Given the description of an element on the screen output the (x, y) to click on. 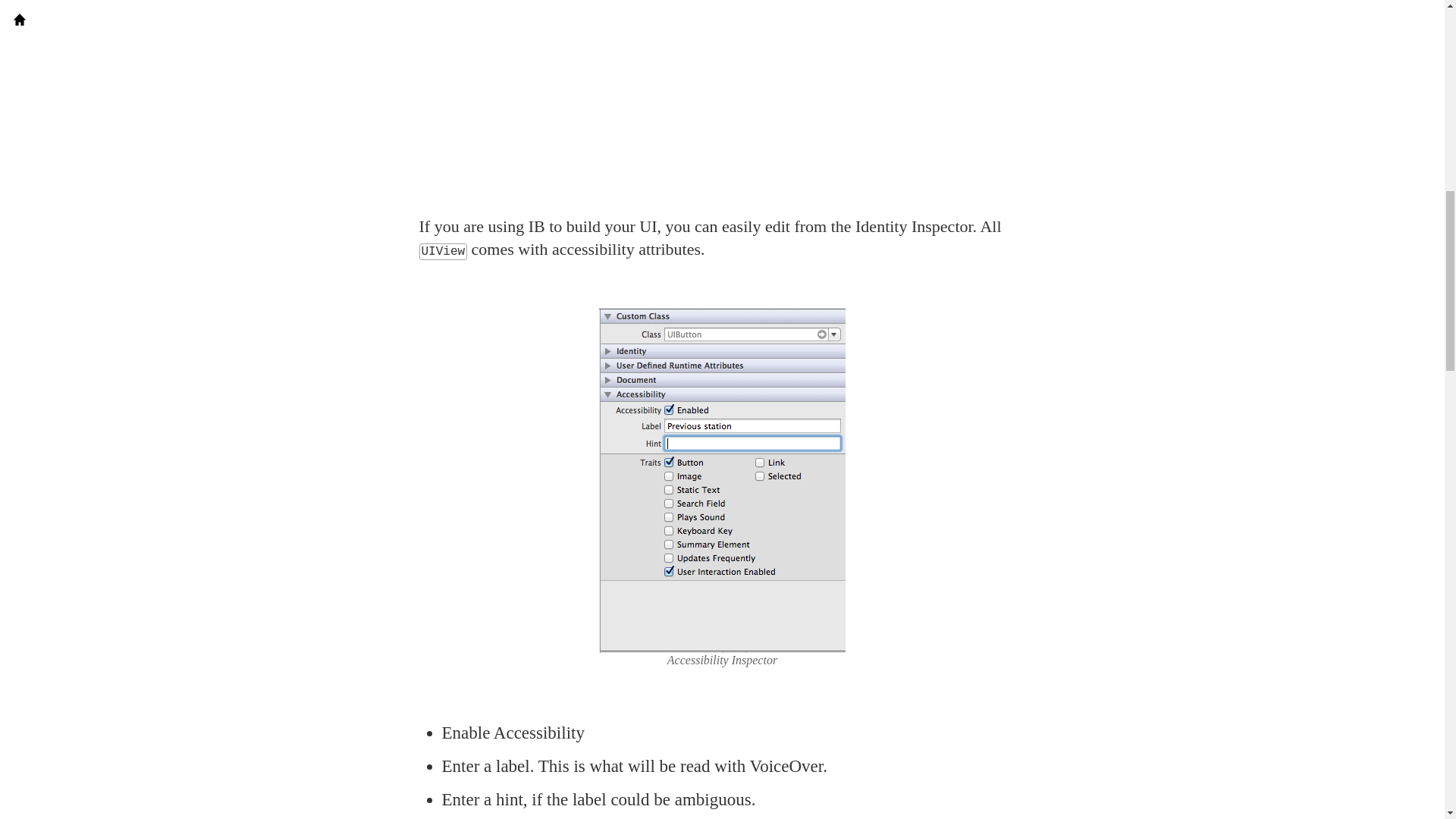
Advertisement (722, 109)
